Given the description of an element on the screen output the (x, y) to click on. 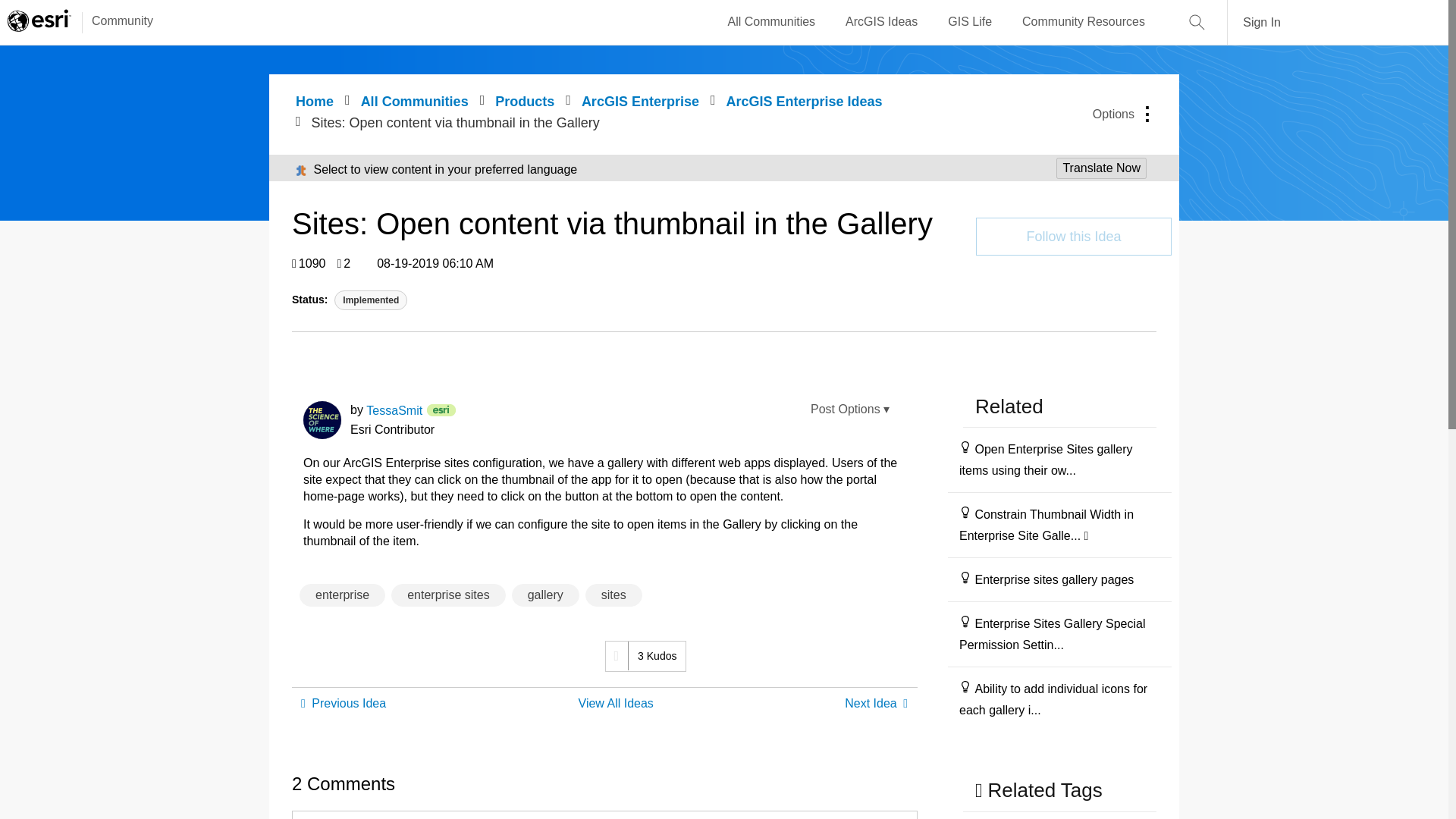
Community (114, 22)
All Communities (772, 22)
